Given the description of an element on the screen output the (x, y) to click on. 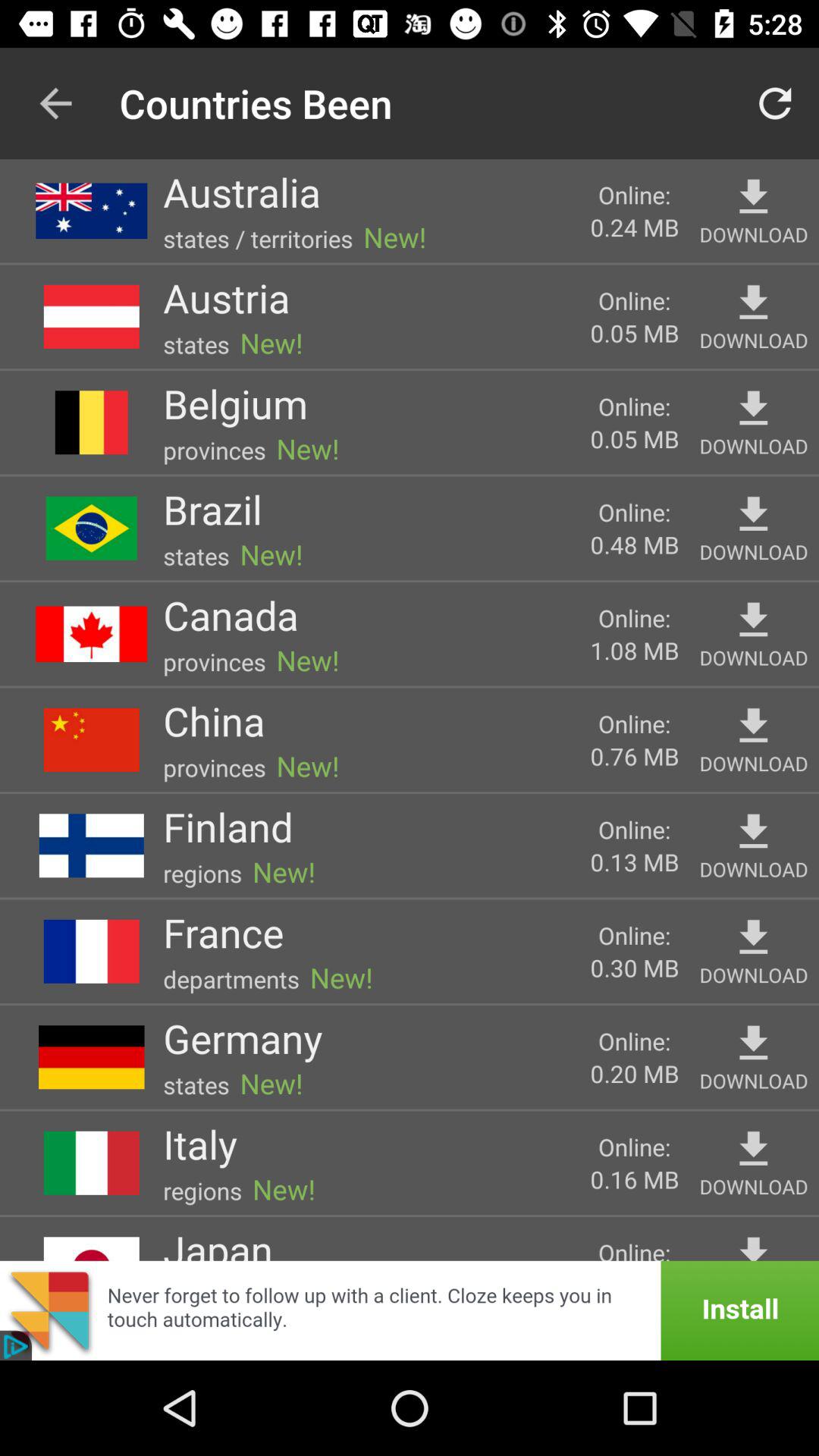
click to download (753, 1245)
